Given the description of an element on the screen output the (x, y) to click on. 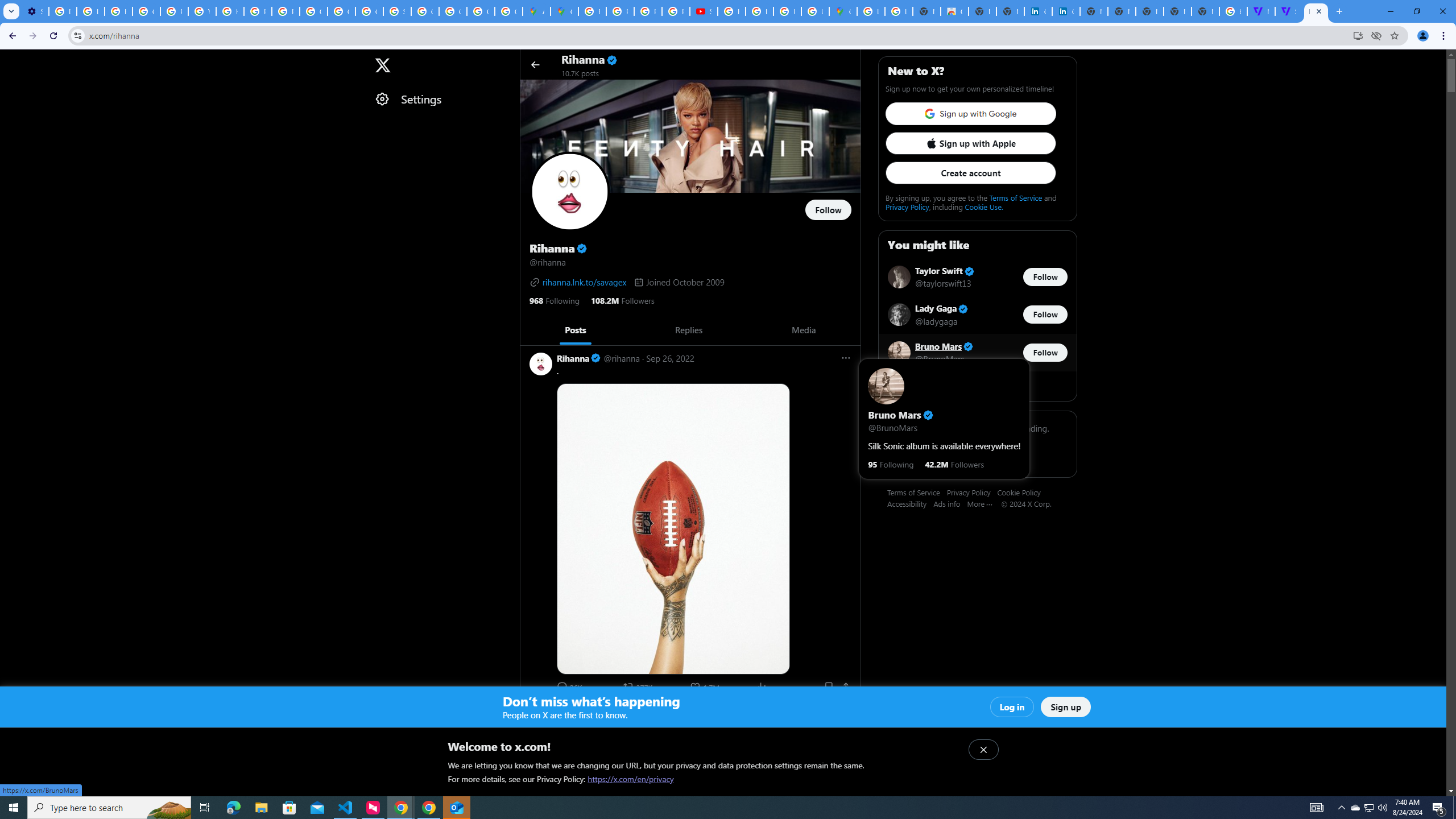
View post analytics (762, 686)
X (382, 65)
Delete photos & videos - Computer - Google Photos Help (62, 11)
Cookie Policy | LinkedIn (1038, 11)
Follow @BrunoMars (1045, 352)
Opens profile photo (569, 191)
Provides details about verified accounts. (581, 247)
Skip to trending (10, 59)
1786987 Likes. Like (706, 686)
42.2M Followers (954, 463)
